Given the description of an element on the screen output the (x, y) to click on. 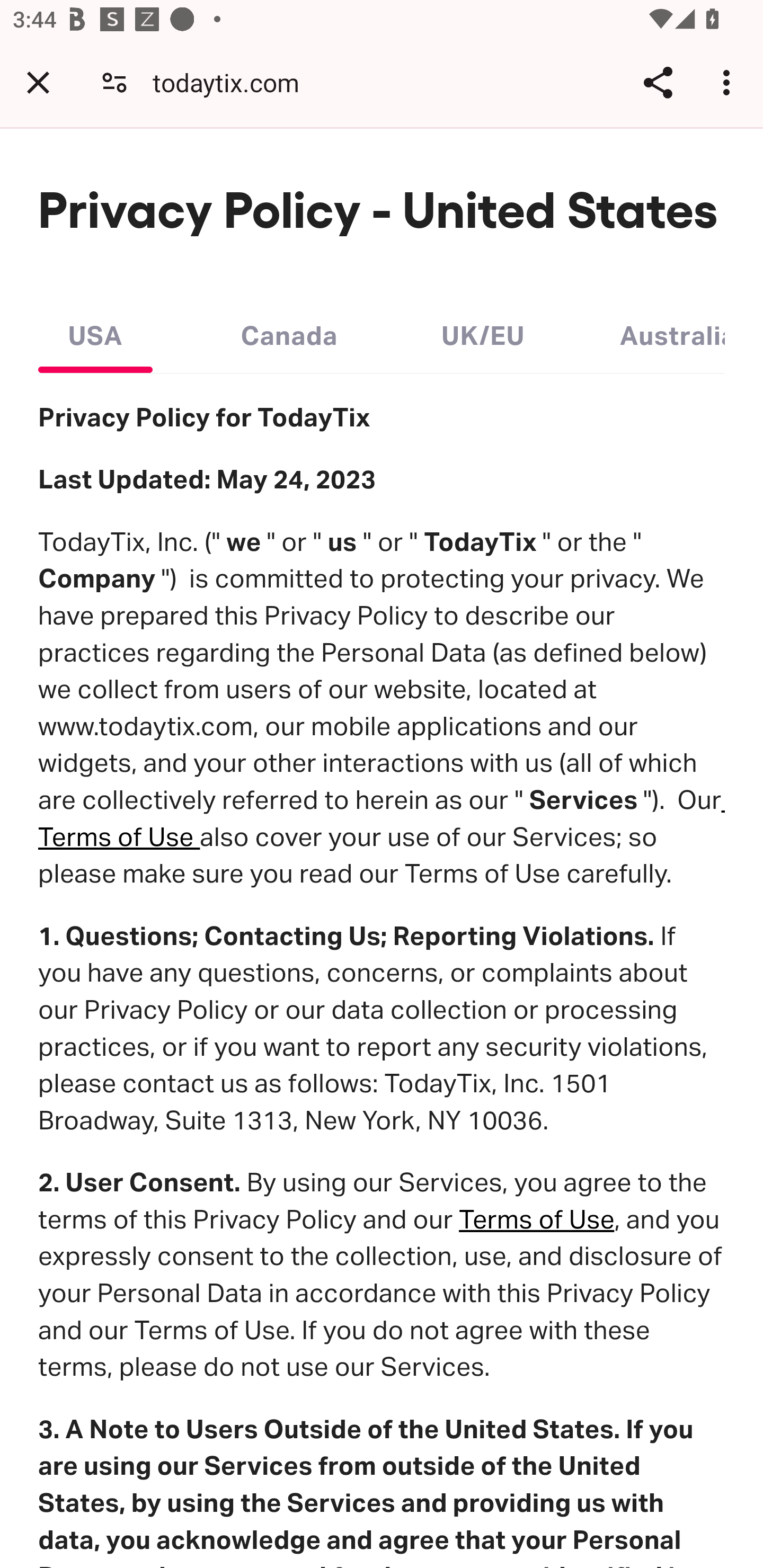
Close tab (38, 82)
Share (657, 82)
Customize and control Google Chrome (729, 82)
Connection is secure (114, 81)
todaytix.com (232, 81)
USA (95, 330)
Canada (288, 330)
UK/EU (482, 330)
 Terms of Use  (382, 817)
Terms of Use (535, 1219)
